Given the description of an element on the screen output the (x, y) to click on. 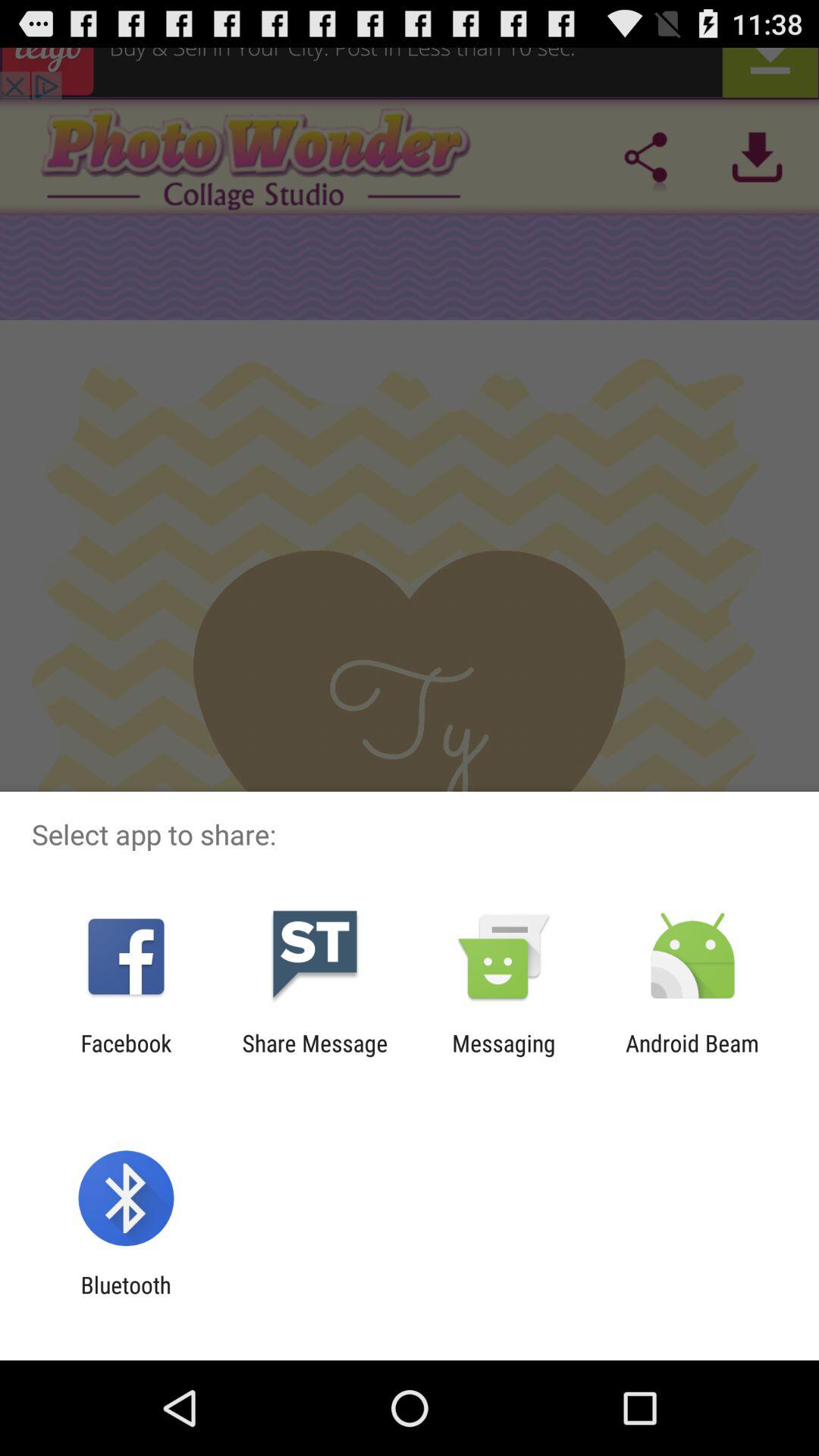
open the share message app (314, 1056)
